Given the description of an element on the screen output the (x, y) to click on. 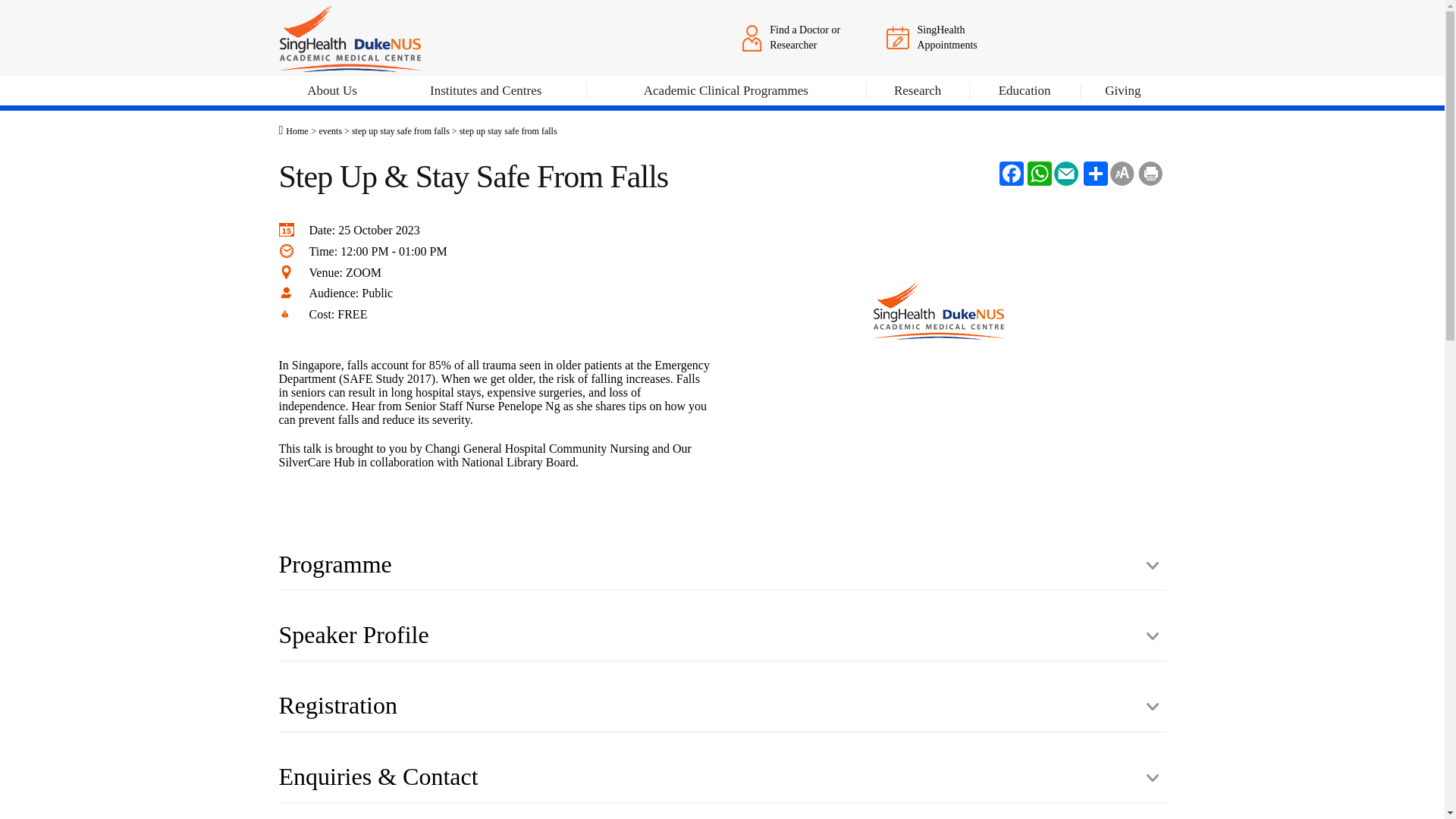
SingHealth Appointments (945, 37)
Email Us (1066, 173)
WhatsApp (1037, 173)
Print (1149, 173)
SingHealth Appointments (897, 37)
Facebook (1009, 173)
About Us (332, 93)
Find a Doctor or Researcher (801, 37)
Share this Page (1093, 173)
